Given the description of an element on the screen output the (x, y) to click on. 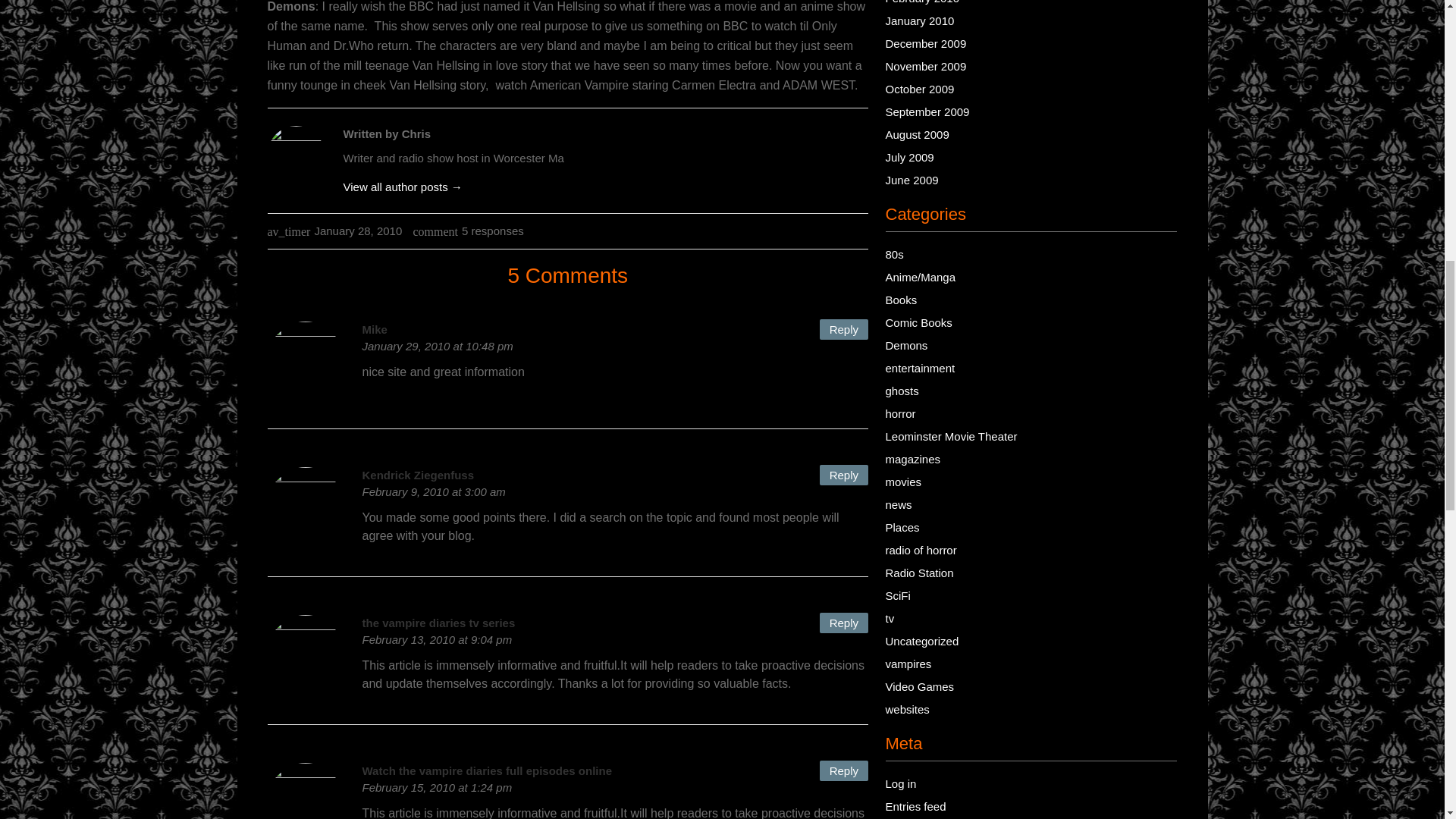
Reply (843, 329)
Reply (843, 622)
Reply (843, 475)
View all author posts (401, 186)
Reply (843, 770)
